Given the description of an element on the screen output the (x, y) to click on. 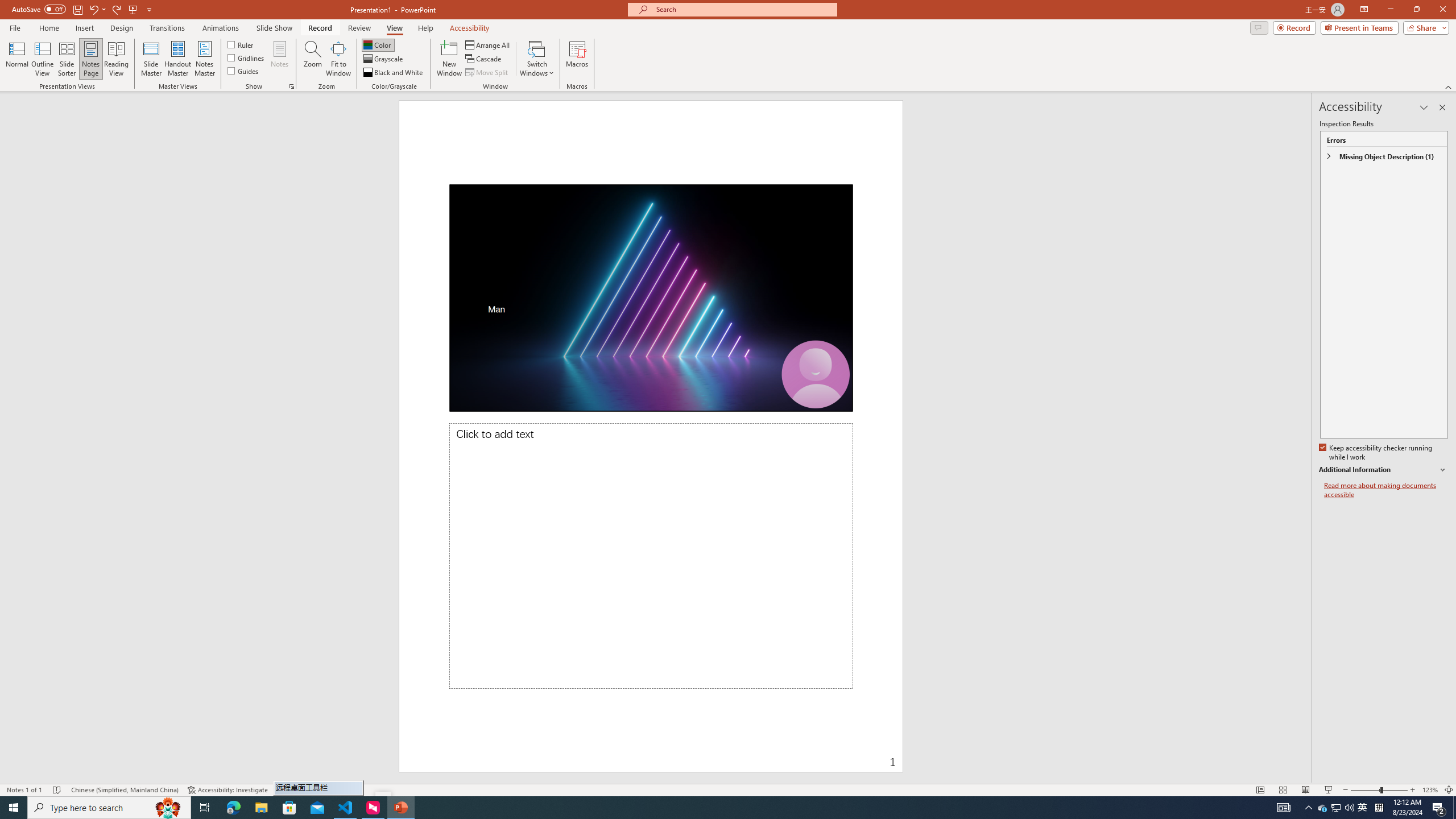
Gridlines (246, 56)
Fit to Window (338, 58)
Zoom... (312, 58)
Black and White (393, 72)
Outline View (42, 58)
